Given the description of an element on the screen output the (x, y) to click on. 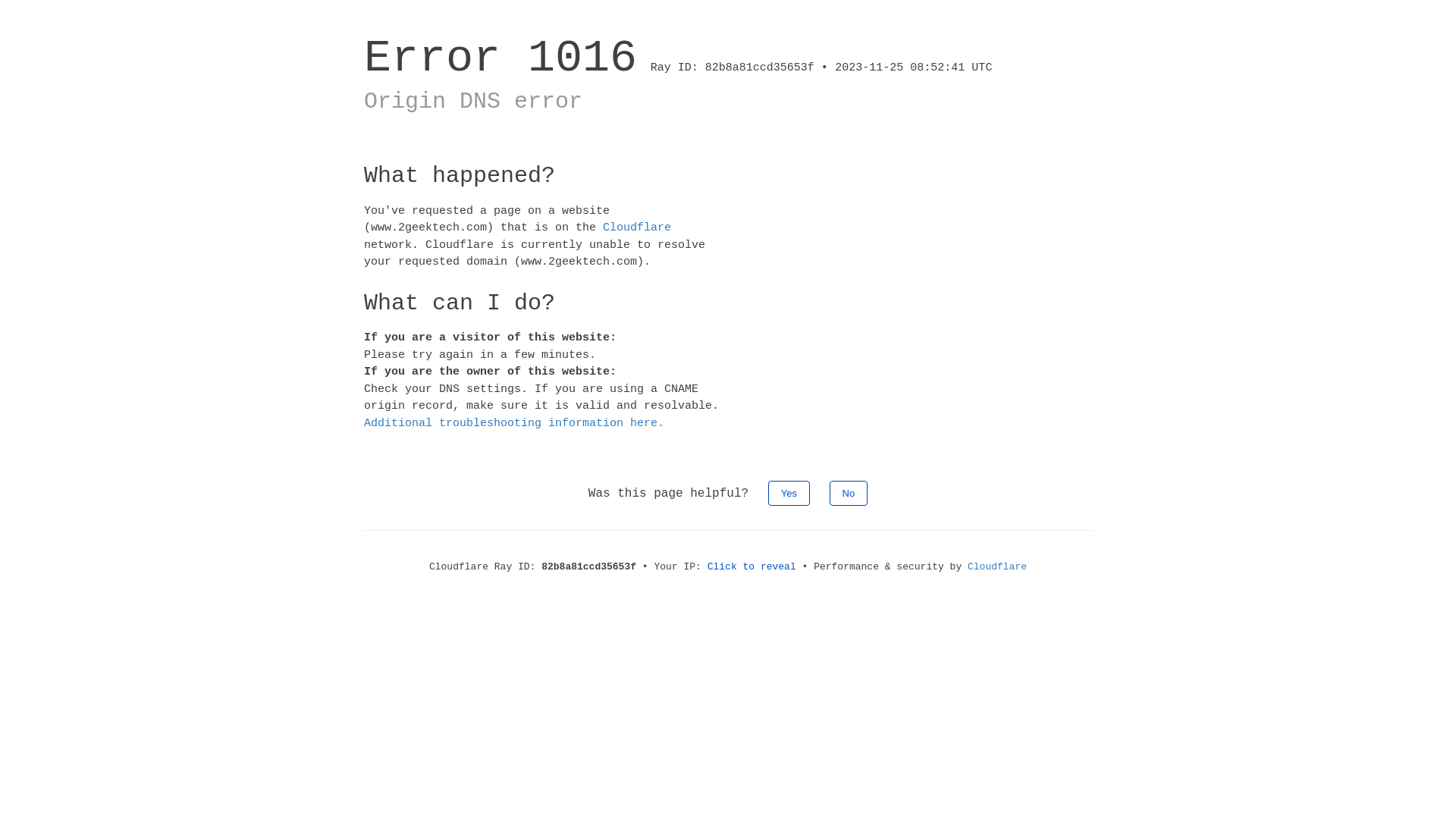
Cloudflare Element type: text (636, 227)
Additional troubleshooting information here. Element type: text (514, 423)
Click to reveal Element type: text (751, 566)
Cloudflare Element type: text (996, 566)
No Element type: text (848, 492)
Yes Element type: text (788, 492)
